Given the description of an element on the screen output the (x, y) to click on. 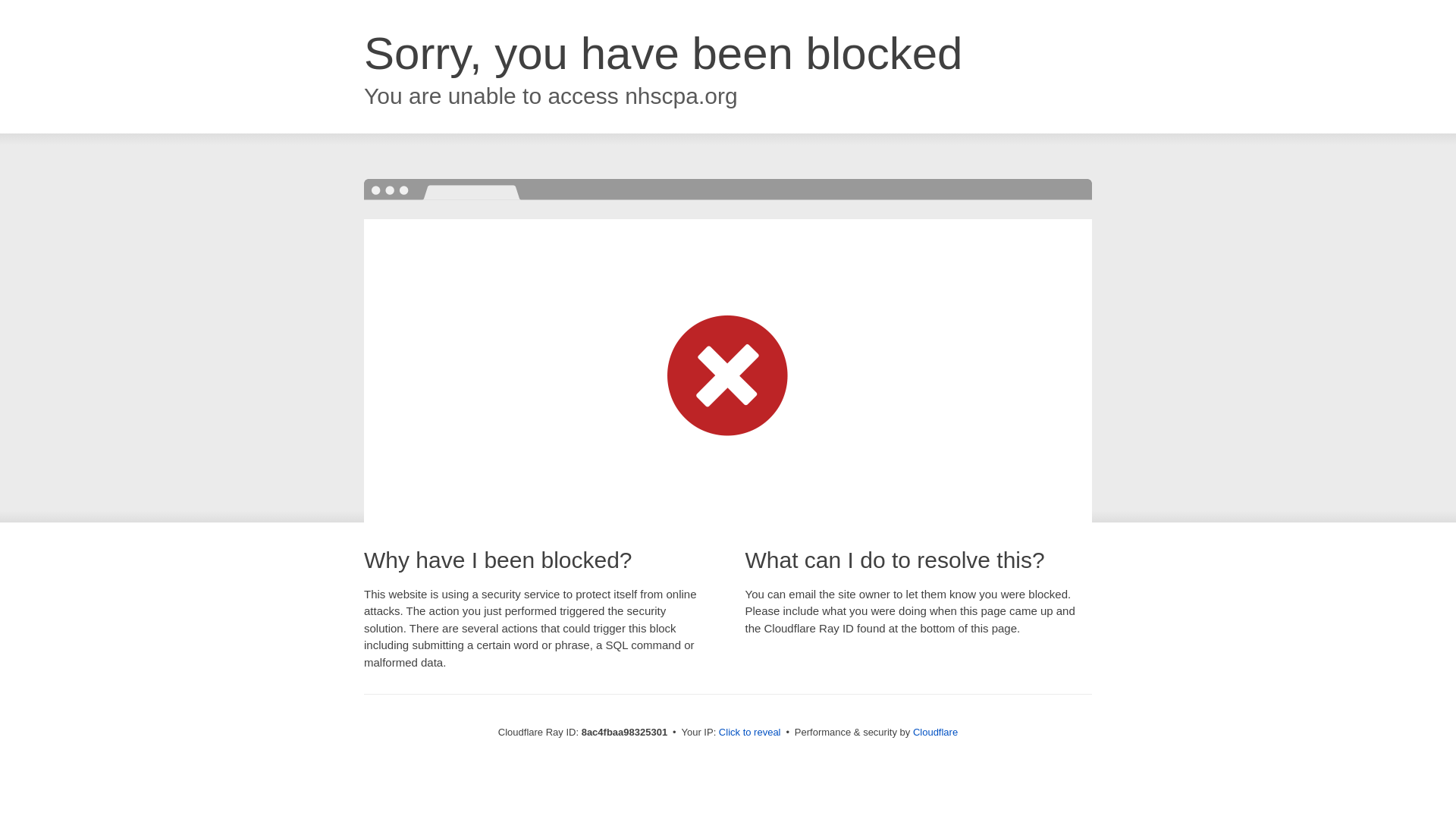
Cloudflare (935, 731)
Click to reveal (749, 732)
